Given the description of an element on the screen output the (x, y) to click on. 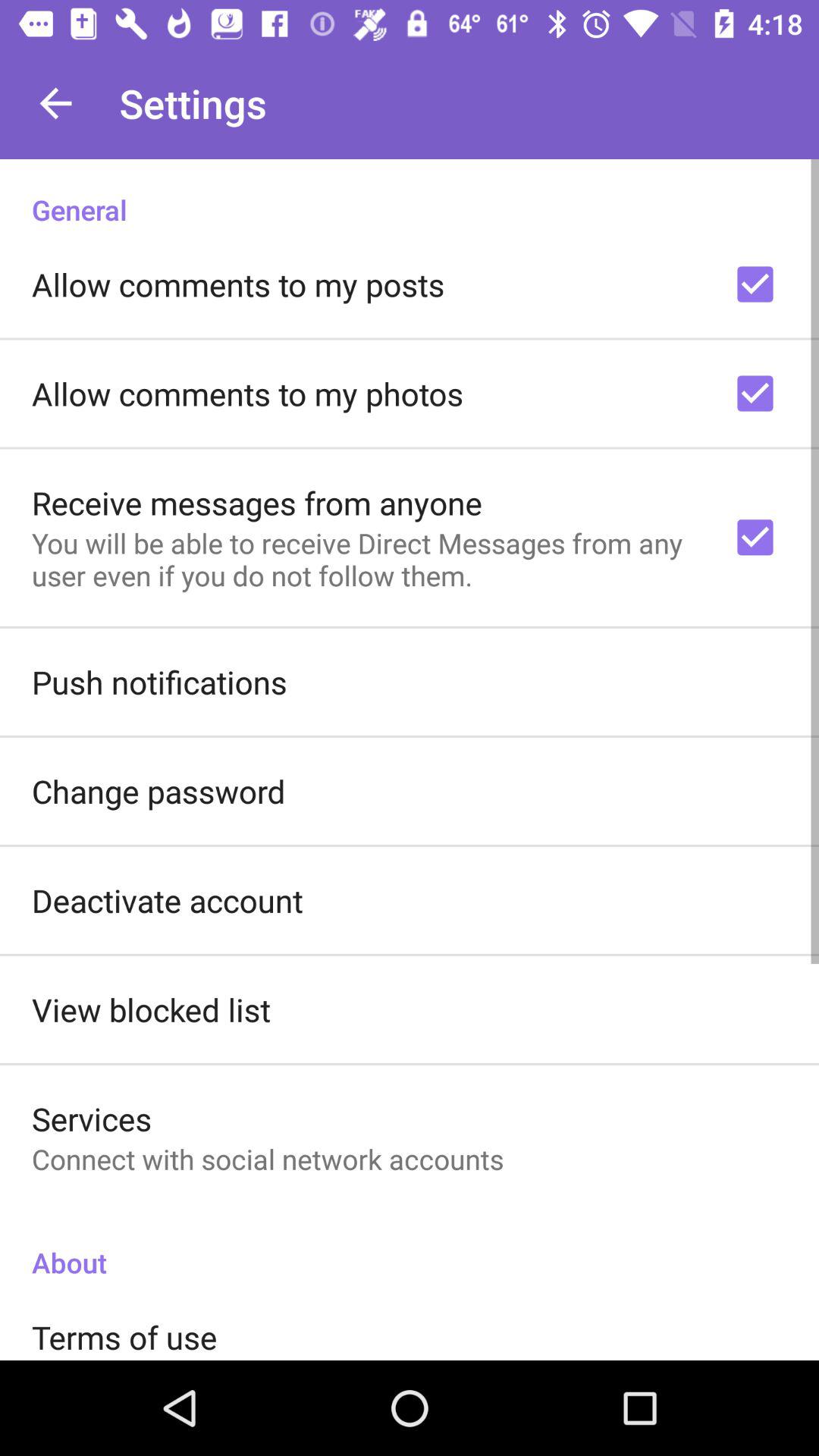
select the general icon (409, 193)
